Given the description of an element on the screen output the (x, y) to click on. 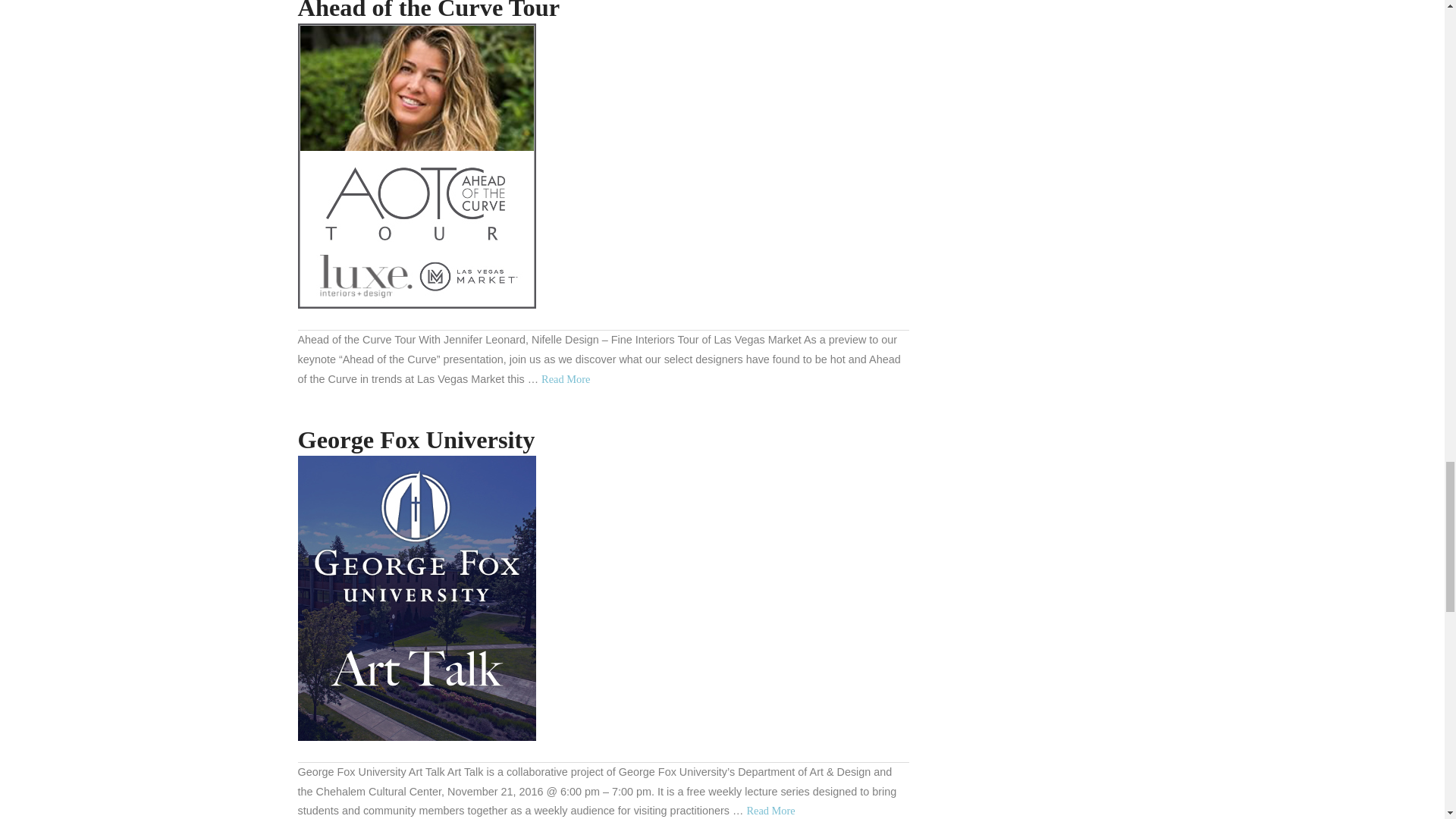
George Fox University (769, 810)
Ahead of the Curve Tour (428, 10)
Ahead of the Curve Tour (565, 378)
Read More (769, 810)
George Fox University (415, 439)
Read More (565, 378)
George Fox University (416, 598)
Ahead of the Curve Tour (416, 165)
